Given the description of an element on the screen output the (x, y) to click on. 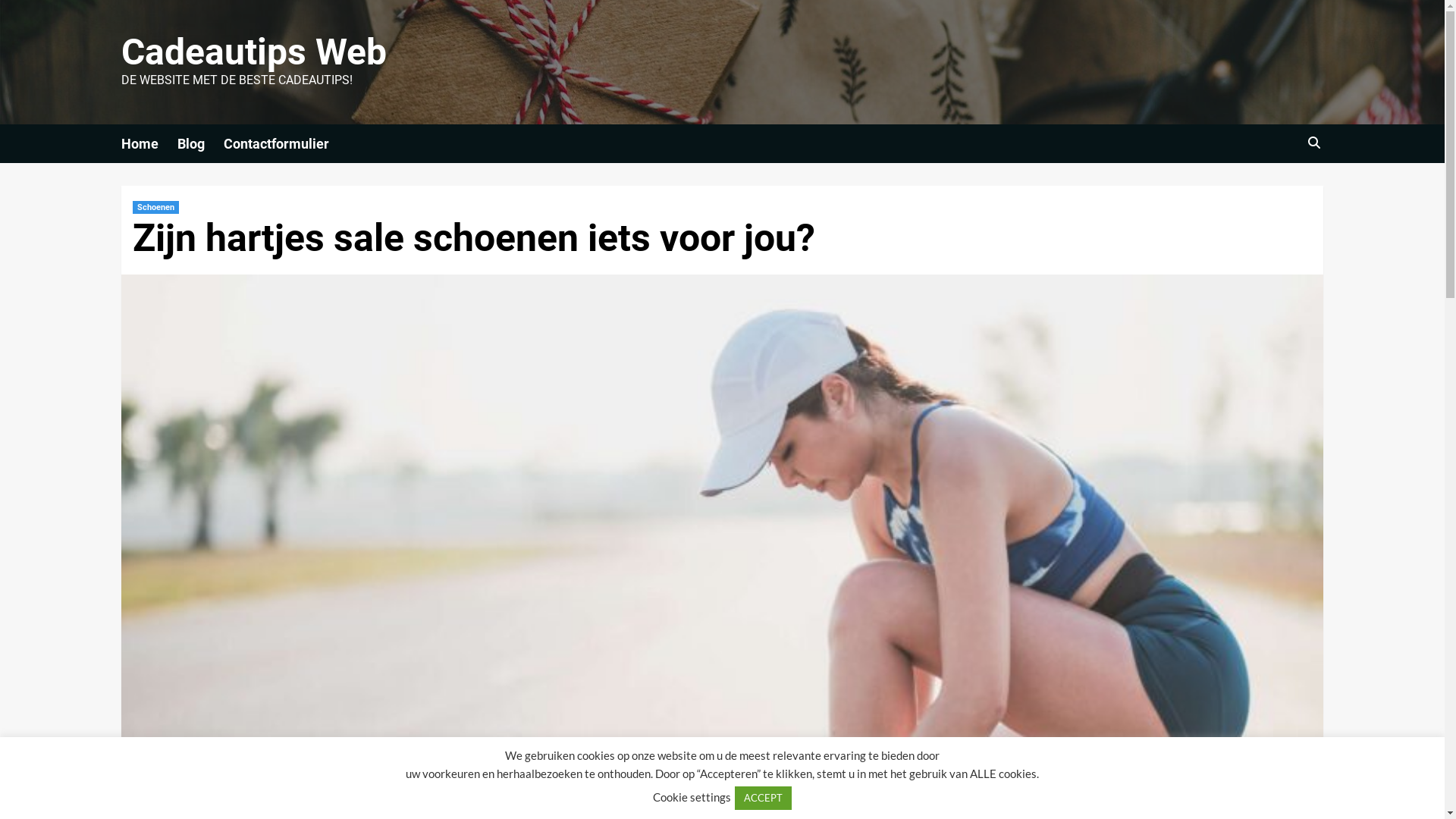
Cookie settings Element type: text (691, 796)
Zoeken Element type: text (1278, 189)
Contactformulier Element type: text (285, 143)
ACCEPT Element type: text (762, 797)
Blog Element type: text (200, 143)
Schoenen Element type: text (155, 206)
Search Element type: hover (1313, 142)
Home Element type: text (149, 143)
Cadeautips Web Element type: text (253, 51)
